Given the description of an element on the screen output the (x, y) to click on. 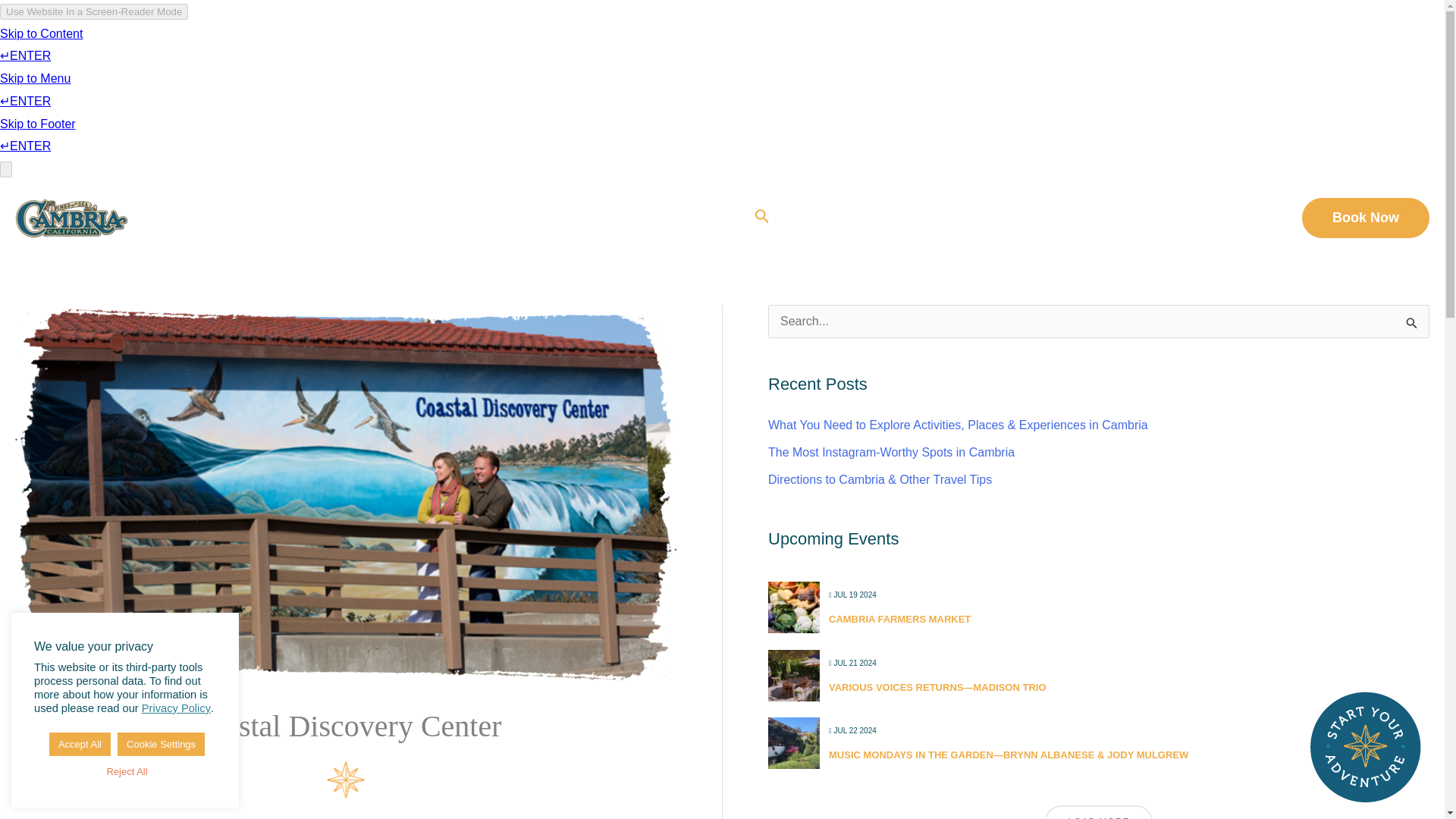
Itinerary (918, 218)
Events (1114, 218)
Book Now (1365, 218)
Explore (830, 218)
Visitors Guide (1018, 218)
Contact (1247, 218)
